Given the description of an element on the screen output the (x, y) to click on. 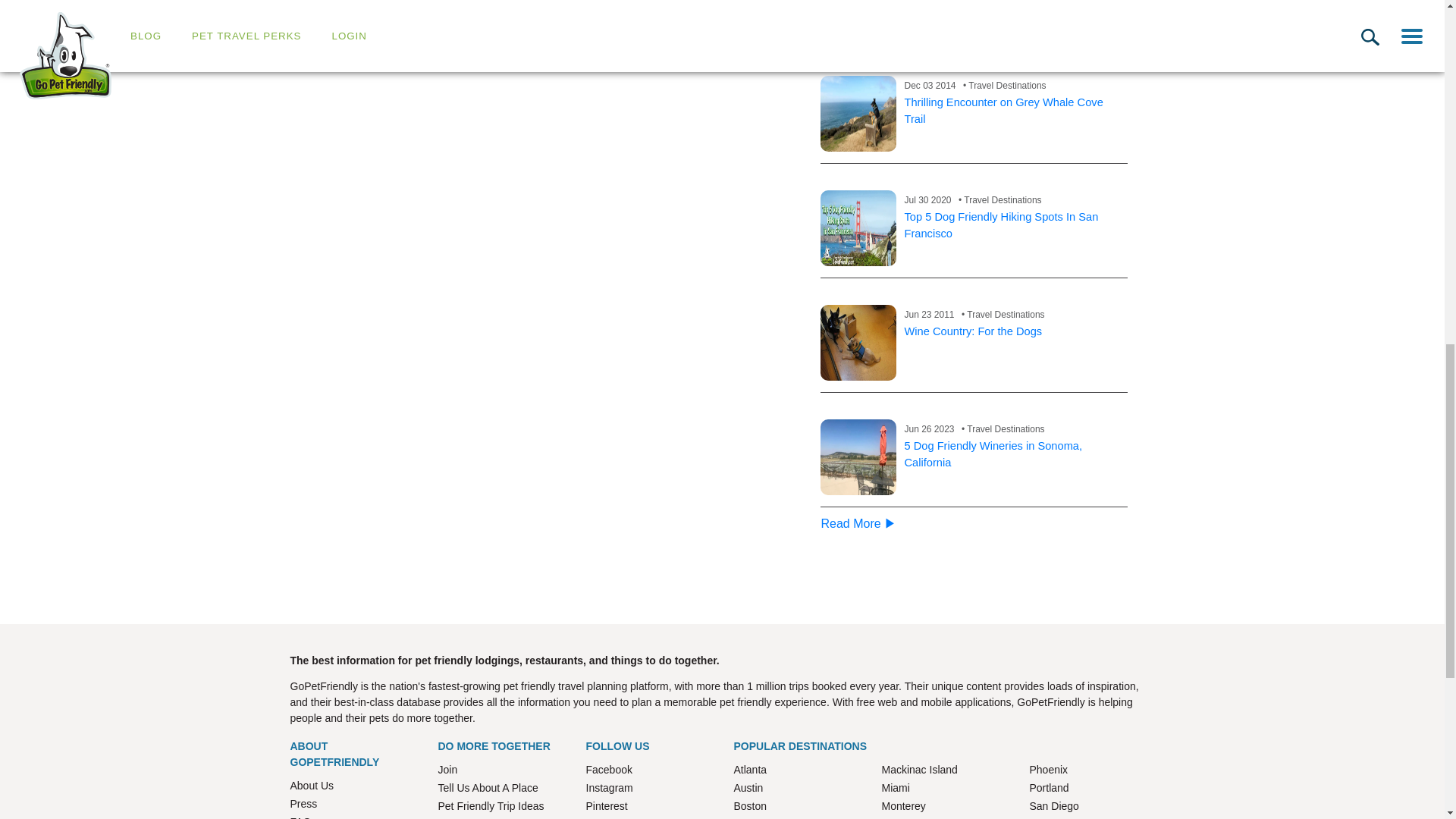
Wine Country: For the Dogs (973, 331)
Top 5 Dog Friendly Hiking Spots In San Francisco (1000, 224)
Wine Country: For the Dogs (858, 342)
5 Dog Friendly Wineries in Sonoma, California (858, 457)
5 Dog Friendly Wineries in Sonoma, California (992, 453)
Thrilling Encounter on Grey Whale Cove Trail (858, 113)
Thrilling Encounter on Grey Whale Cove Trail (1003, 110)
Top 5 Dog Friendly Hiking Spots In San Francisco (858, 228)
